Given the description of an element on the screen output the (x, y) to click on. 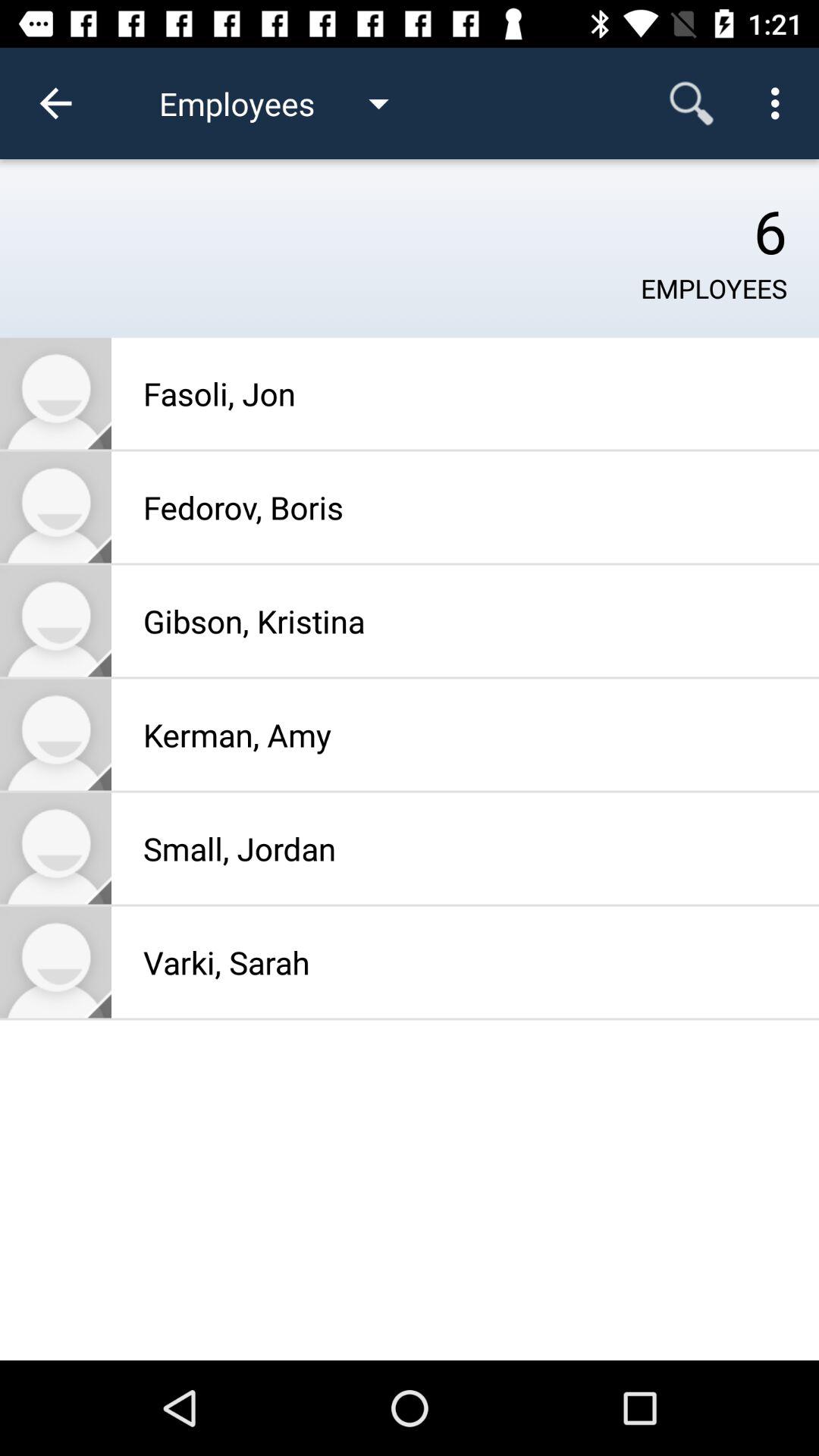
click to go to contact information (55, 393)
